Given the description of an element on the screen output the (x, y) to click on. 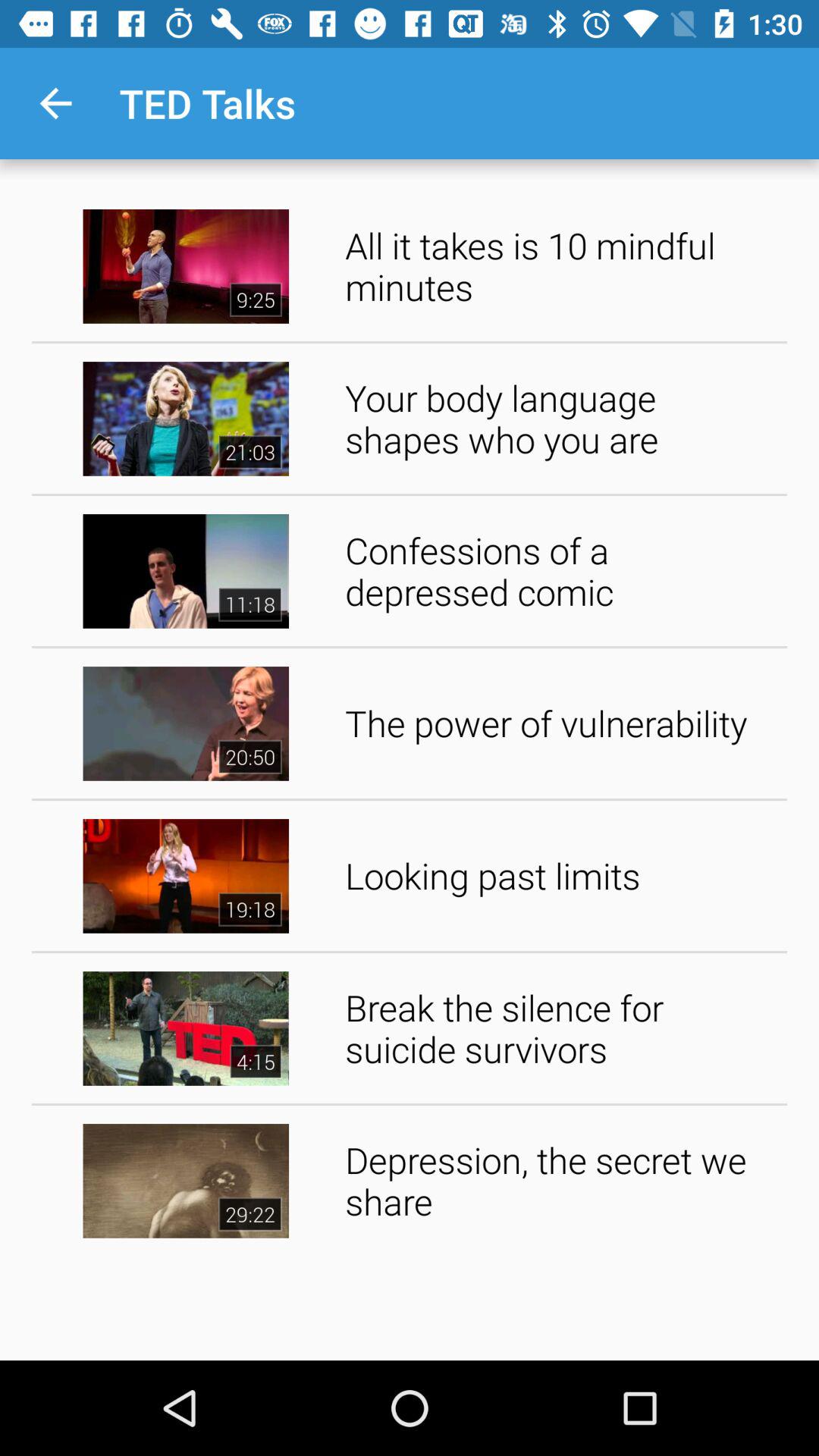
click the item below looking past limits item (560, 1028)
